Given the description of an element on the screen output the (x, y) to click on. 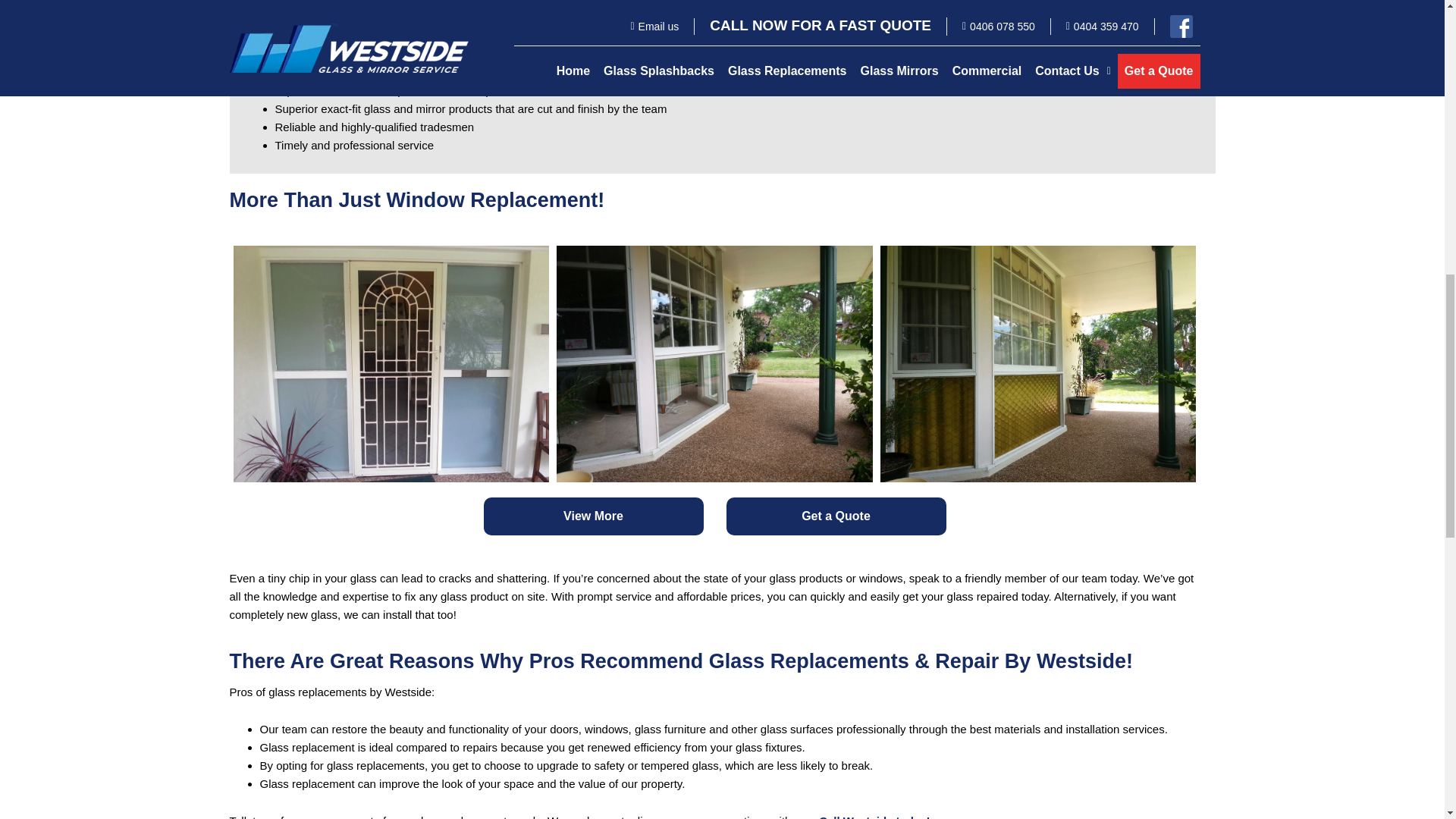
Get a Quote (836, 516)
Call Westside today! (874, 816)
View More (593, 516)
